Given the description of an element on the screen output the (x, y) to click on. 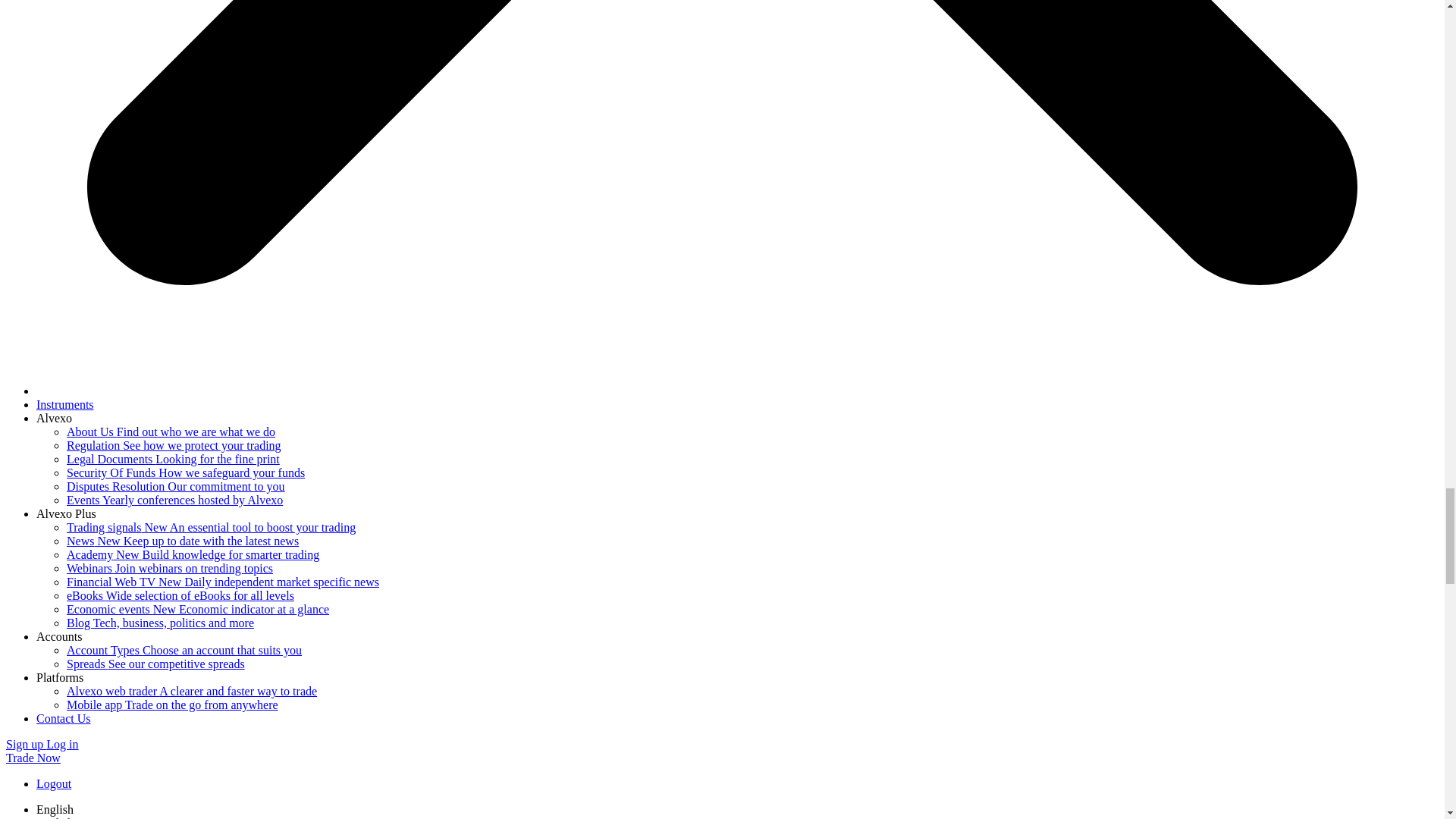
Logout (53, 783)
About Us Find out who we are what we do (170, 431)
Instruments (65, 404)
Mobile app Trade on the go from anywhere (172, 704)
Account Types Choose an account that suits you (183, 649)
Financial Web TV New Daily independent market specific news (222, 581)
Trade Now (33, 757)
Spreads See our competitive spreads (155, 663)
Security Of Funds How we safeguard your funds (185, 472)
Alvexo web trader A clearer and faster way to trade (191, 690)
